Given the description of an element on the screen output the (x, y) to click on. 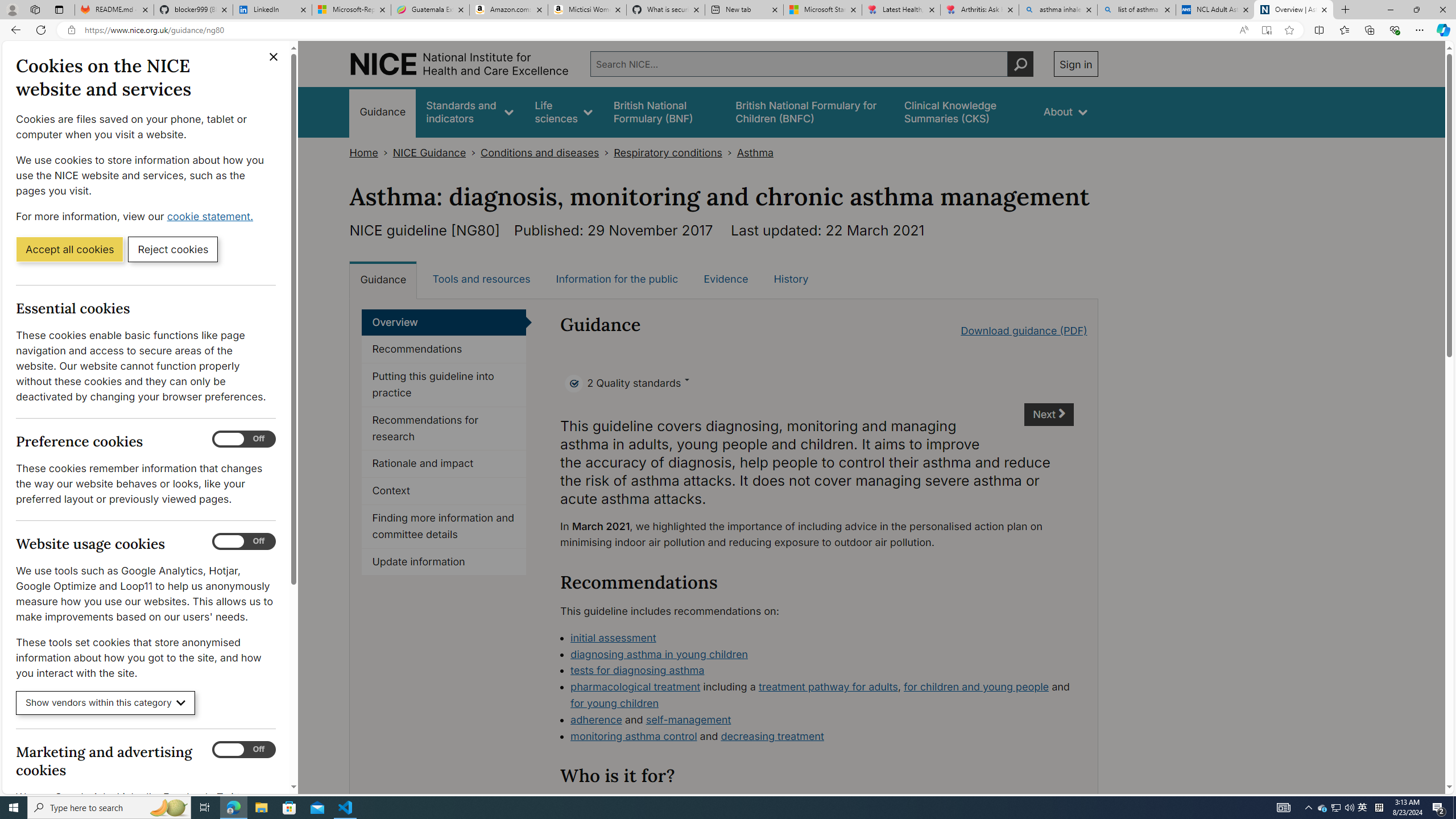
Reject cookies (173, 248)
Website usage cookies (243, 540)
pharmacological treatment (635, 686)
tests for diagnosing asthma (822, 670)
Respiratory conditions> (674, 152)
Marketing and advertising cookies (243, 749)
Asthma (755, 152)
cookie statement. (Opens in a new window) (211, 215)
NICE Guidance> (436, 152)
Download guidance (PDF) (1023, 330)
tests for diagnosing asthma (637, 670)
Guidance (383, 279)
Recommendations for research (443, 428)
